Given the description of an element on the screen output the (x, y) to click on. 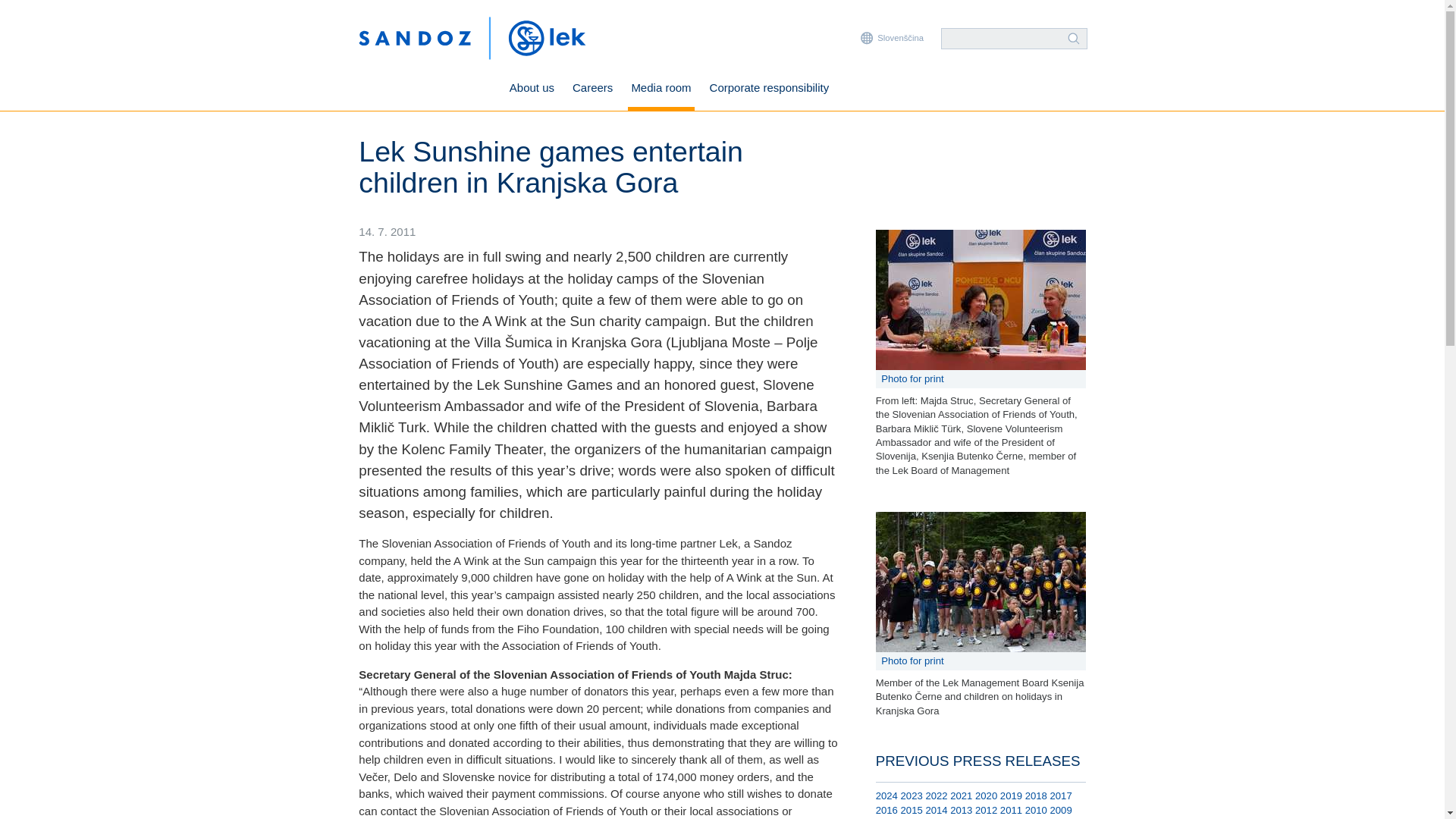
2023 (912, 795)
2014 (935, 809)
About us (531, 89)
Corporate responsibility (769, 89)
Photo for print (981, 660)
2021 (961, 795)
Photo for print (981, 379)
2012 (986, 809)
2016 (887, 809)
2017 (1060, 795)
